Given the description of an element on the screen output the (x, y) to click on. 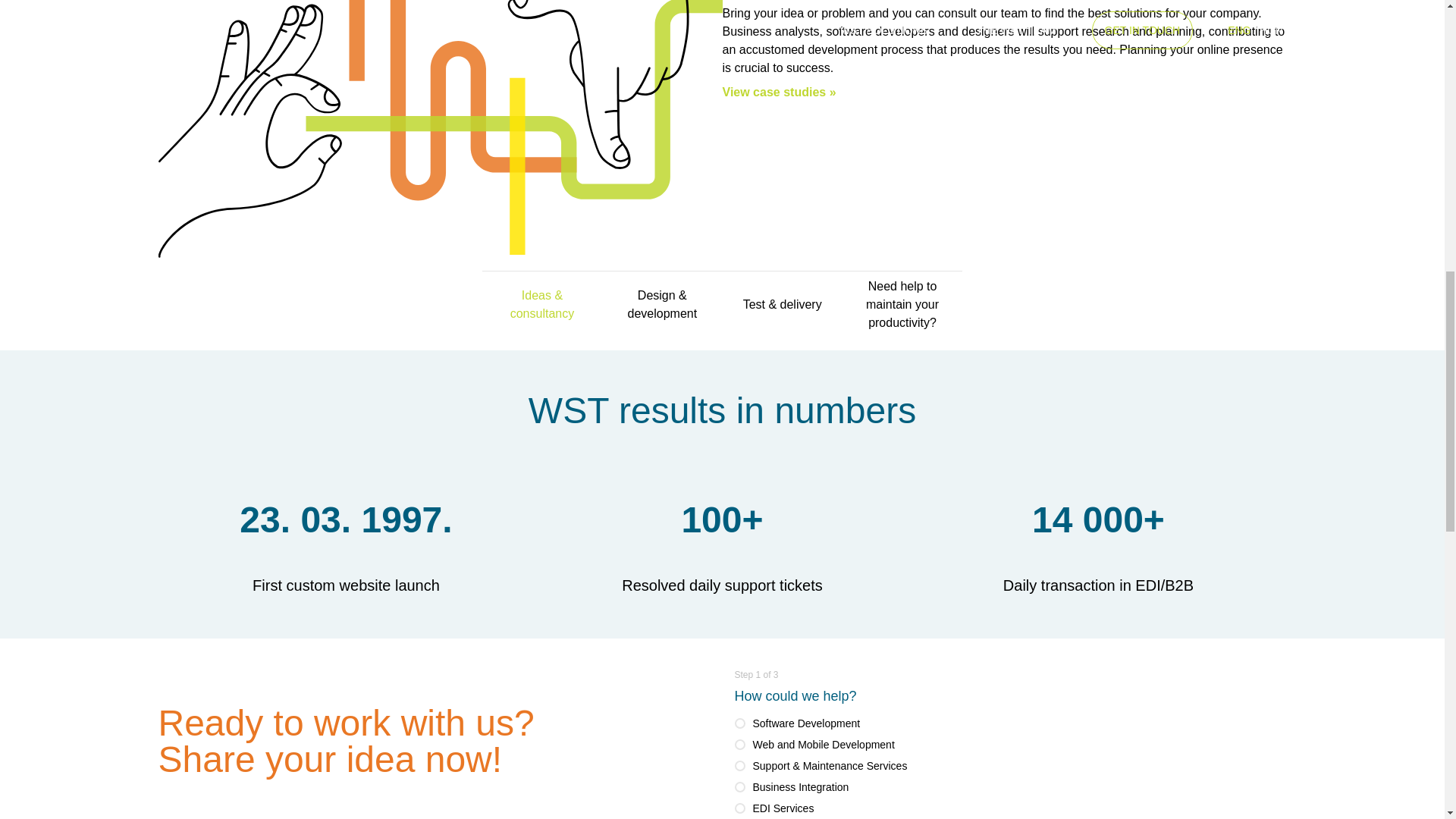
on (738, 808)
on (738, 723)
on (738, 744)
on (738, 765)
on (738, 787)
